Given the description of an element on the screen output the (x, y) to click on. 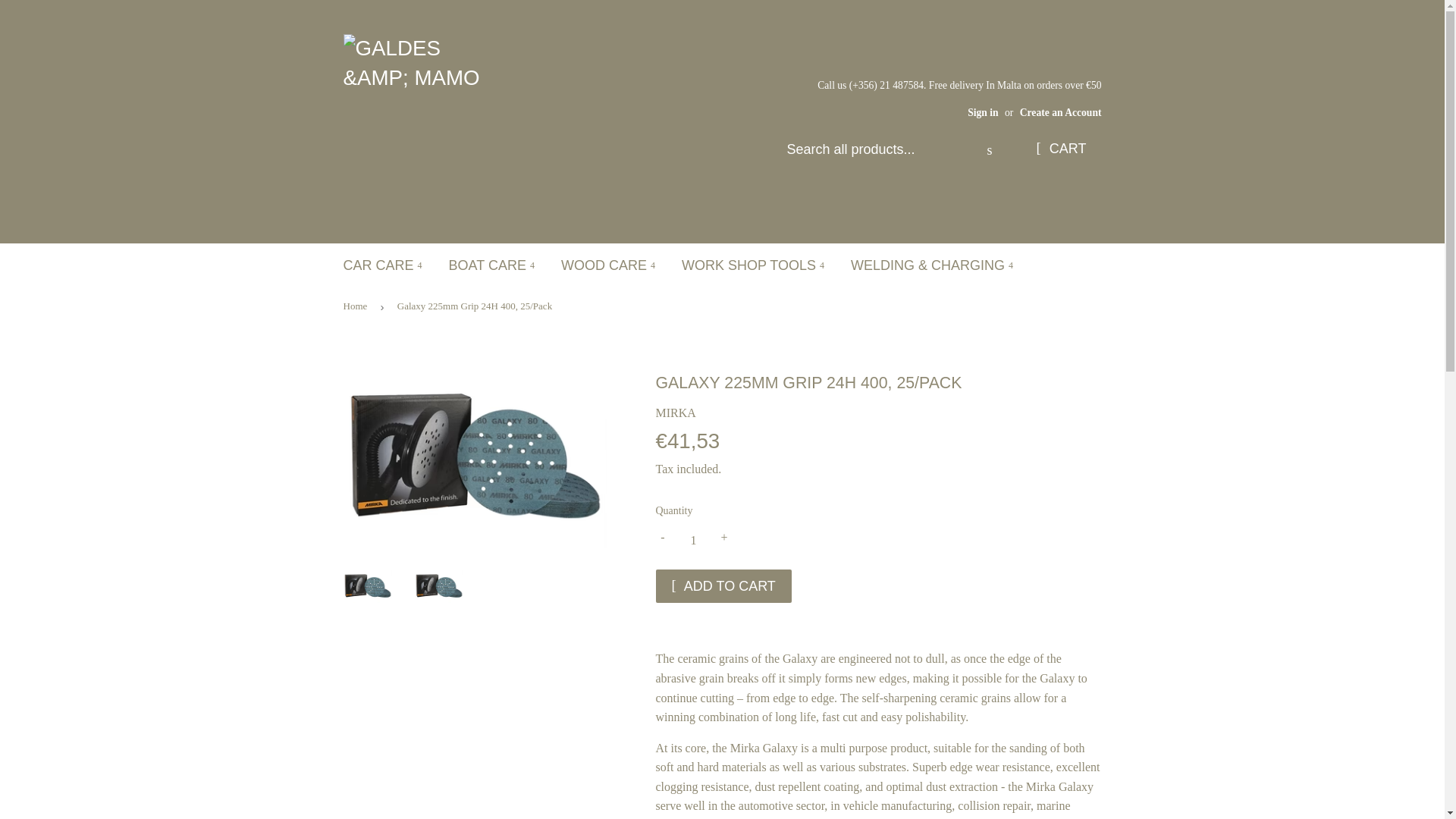
1 (692, 540)
Create an Account (1061, 112)
CART (1060, 149)
Search (989, 150)
Sign in (982, 112)
